Given the description of an element on the screen output the (x, y) to click on. 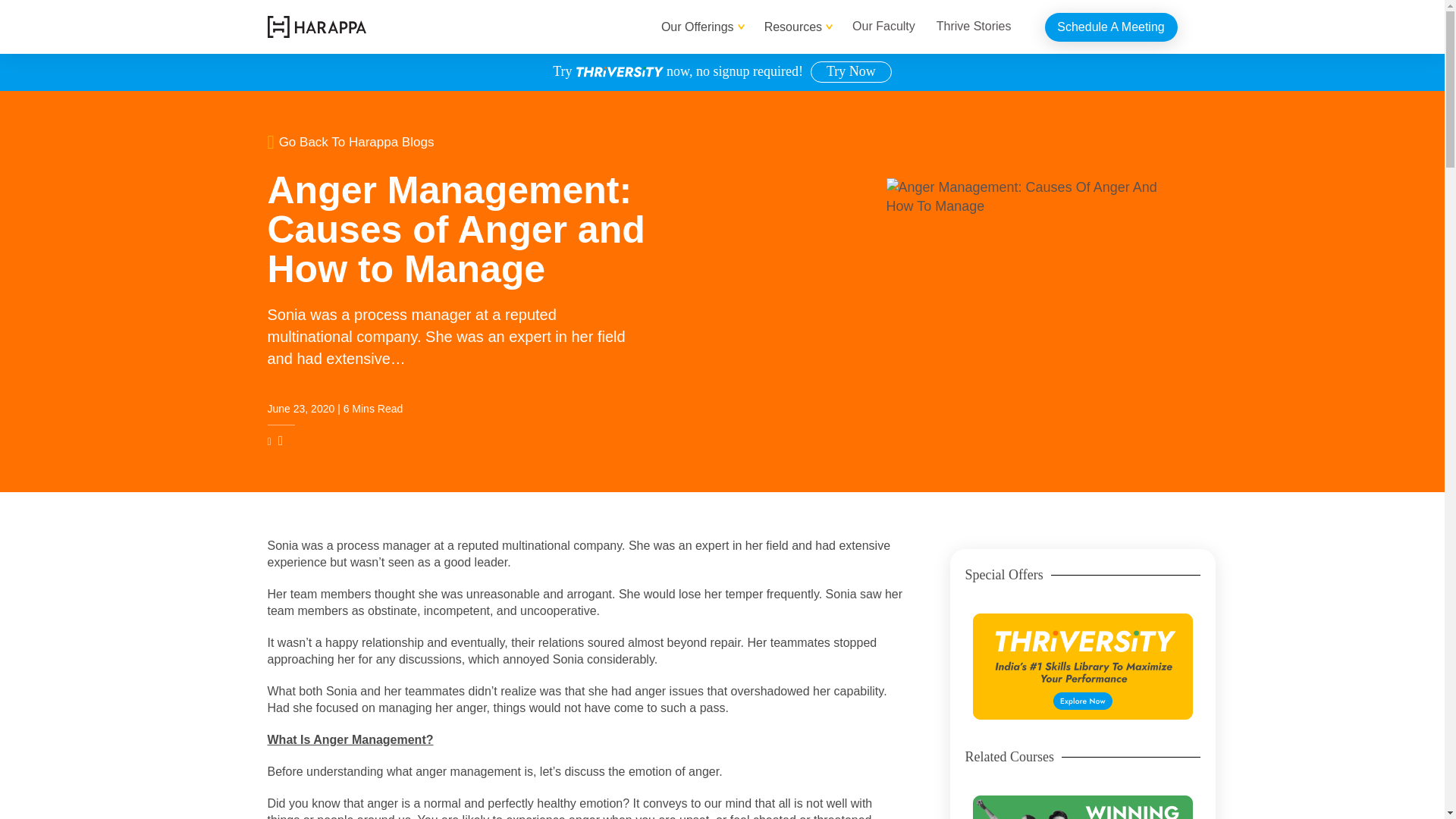
Go Back To Harappa Blogs (494, 141)
Try Now (850, 71)
WMPbannersidenav (1082, 807)
Our Faculty (883, 26)
Anger-Management-Causes-of-Anger-and-How-to-Manage.jpg (1030, 291)
Our Offerings (697, 27)
Schedule A Meeting (1111, 26)
Thriversitybannersidenav (1082, 666)
Thrive Stories (974, 26)
header-logo (315, 26)
Resources (793, 27)
